Given the description of an element on the screen output the (x, y) to click on. 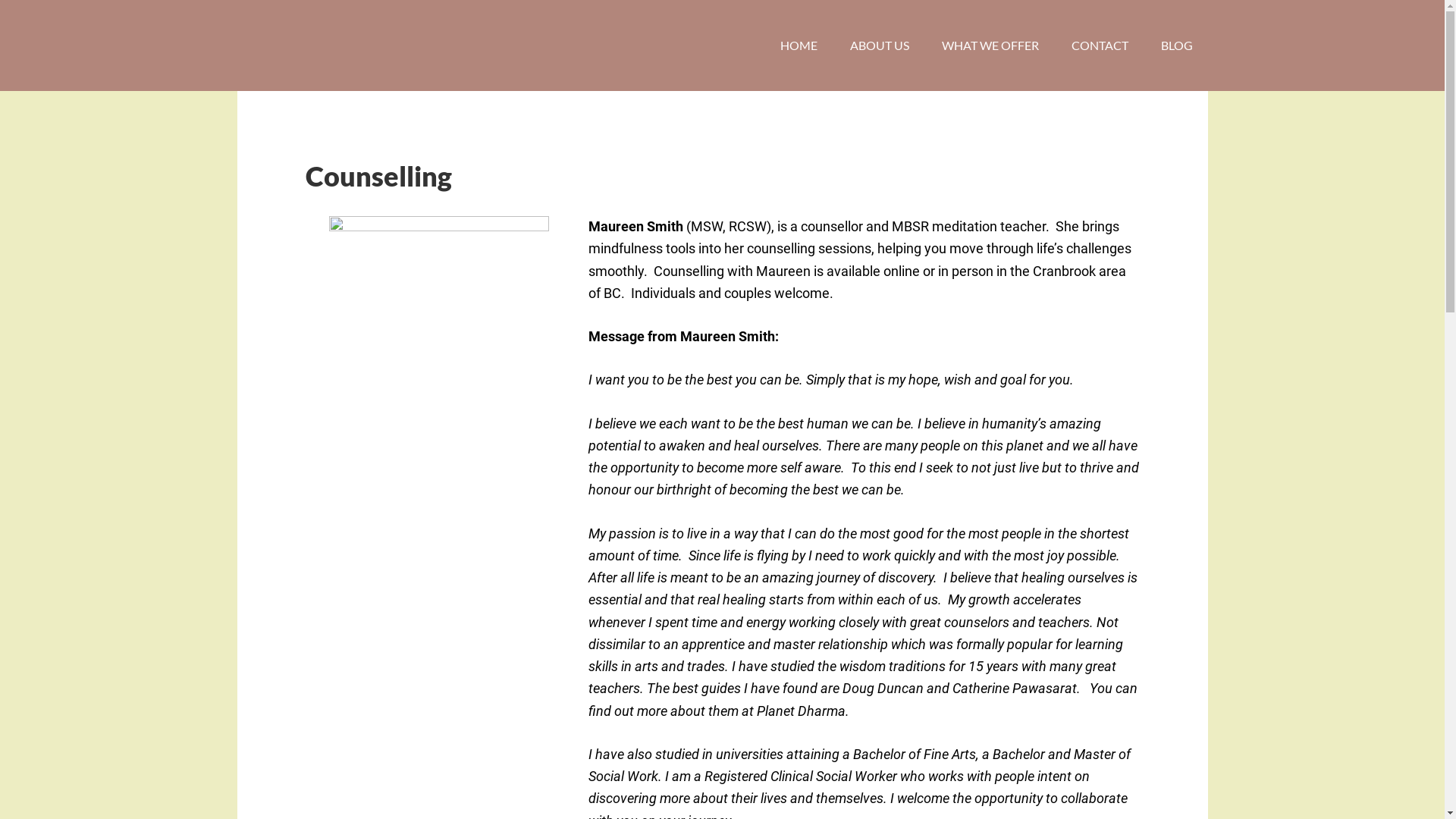
BLOG Element type: text (1176, 45)
Alive Mindfully Element type: text (357, 45)
Planet Dharma. Element type: text (802, 710)
HOME Element type: text (797, 45)
ABOUT US Element type: text (878, 45)
CONTACT Element type: text (1098, 45)
WHAT WE OFFER Element type: text (990, 45)
